Given the description of an element on the screen output the (x, y) to click on. 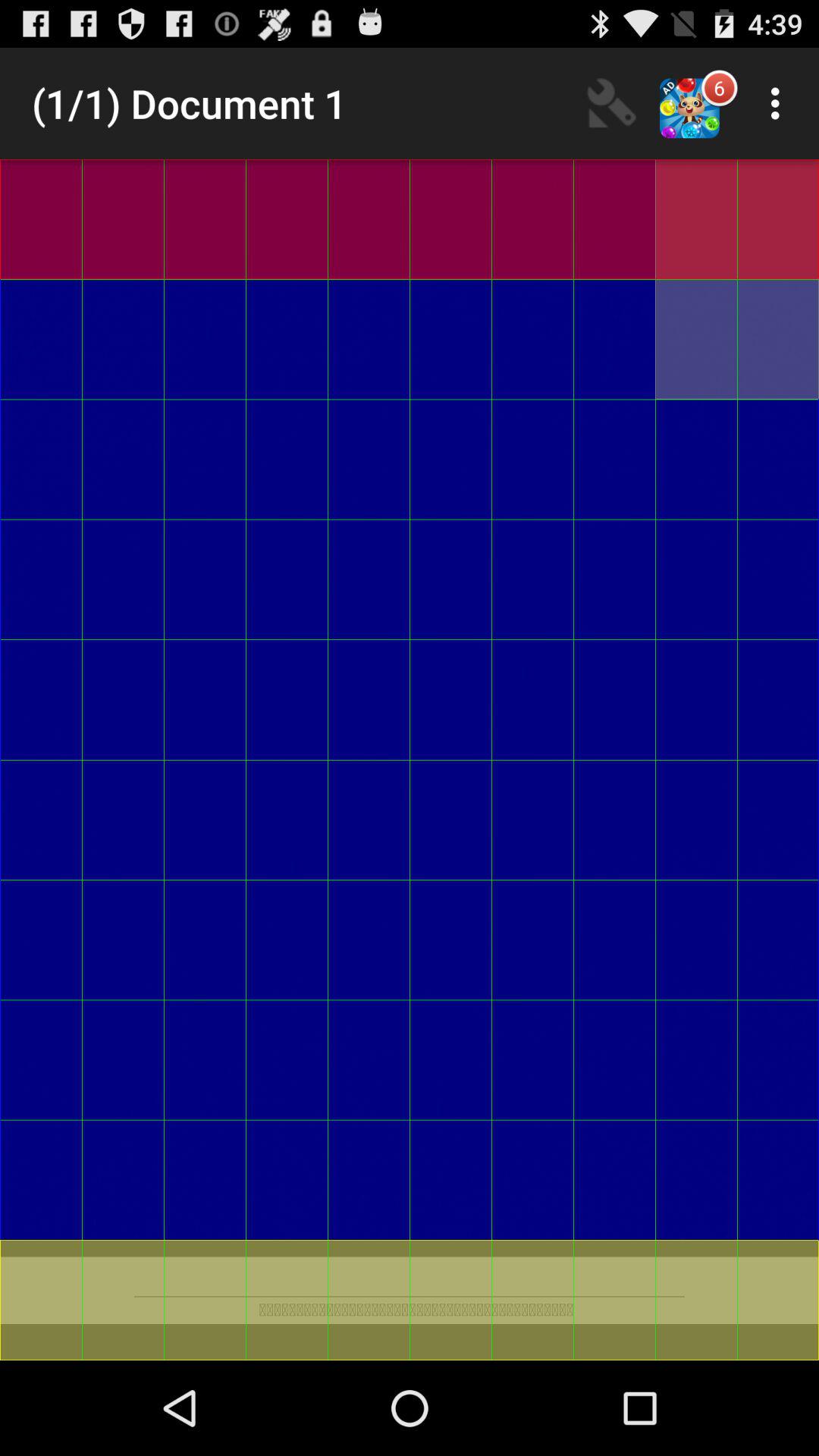
launch the app to the right of the 6 app (779, 103)
